Given the description of an element on the screen output the (x, y) to click on. 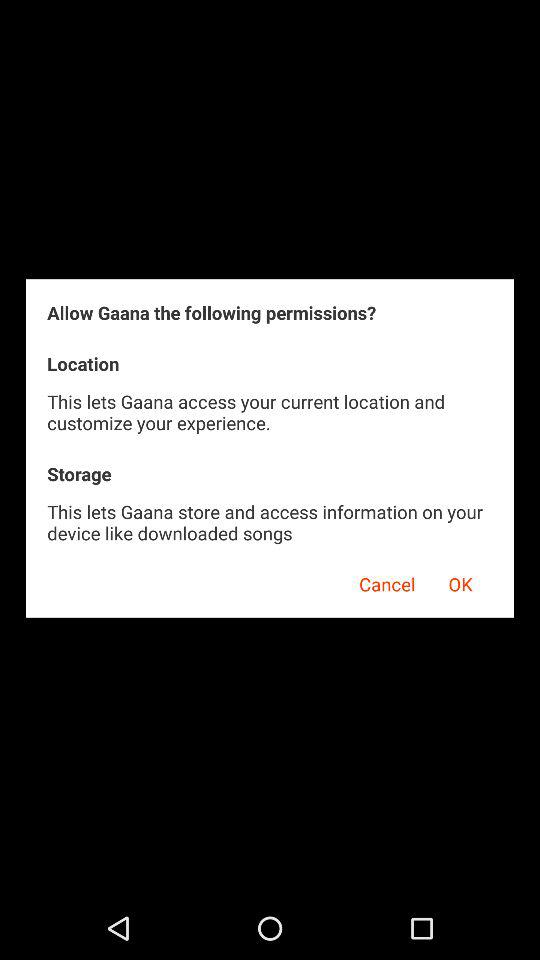
open icon below the this lets gaana icon (460, 581)
